Given the description of an element on the screen output the (x, y) to click on. 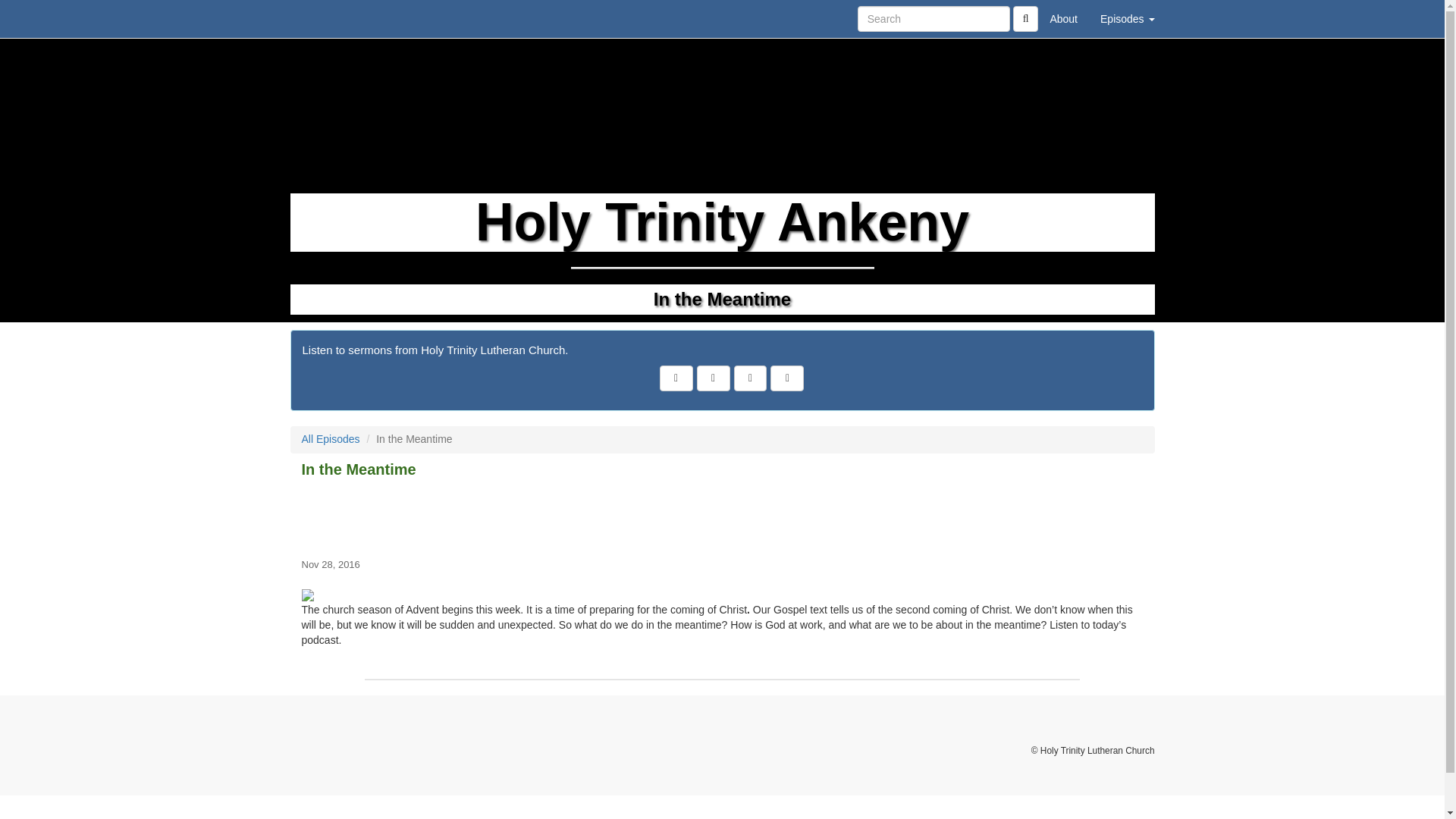
Visit Us on Twitter (713, 378)
Home Page (320, 18)
Go To YouTube Channel (786, 378)
Visit Us on Facebook (676, 378)
Episodes (1127, 18)
Subscribe to RSS Feed (750, 378)
About (1063, 18)
In the Meantime (721, 515)
